Given the description of an element on the screen output the (x, y) to click on. 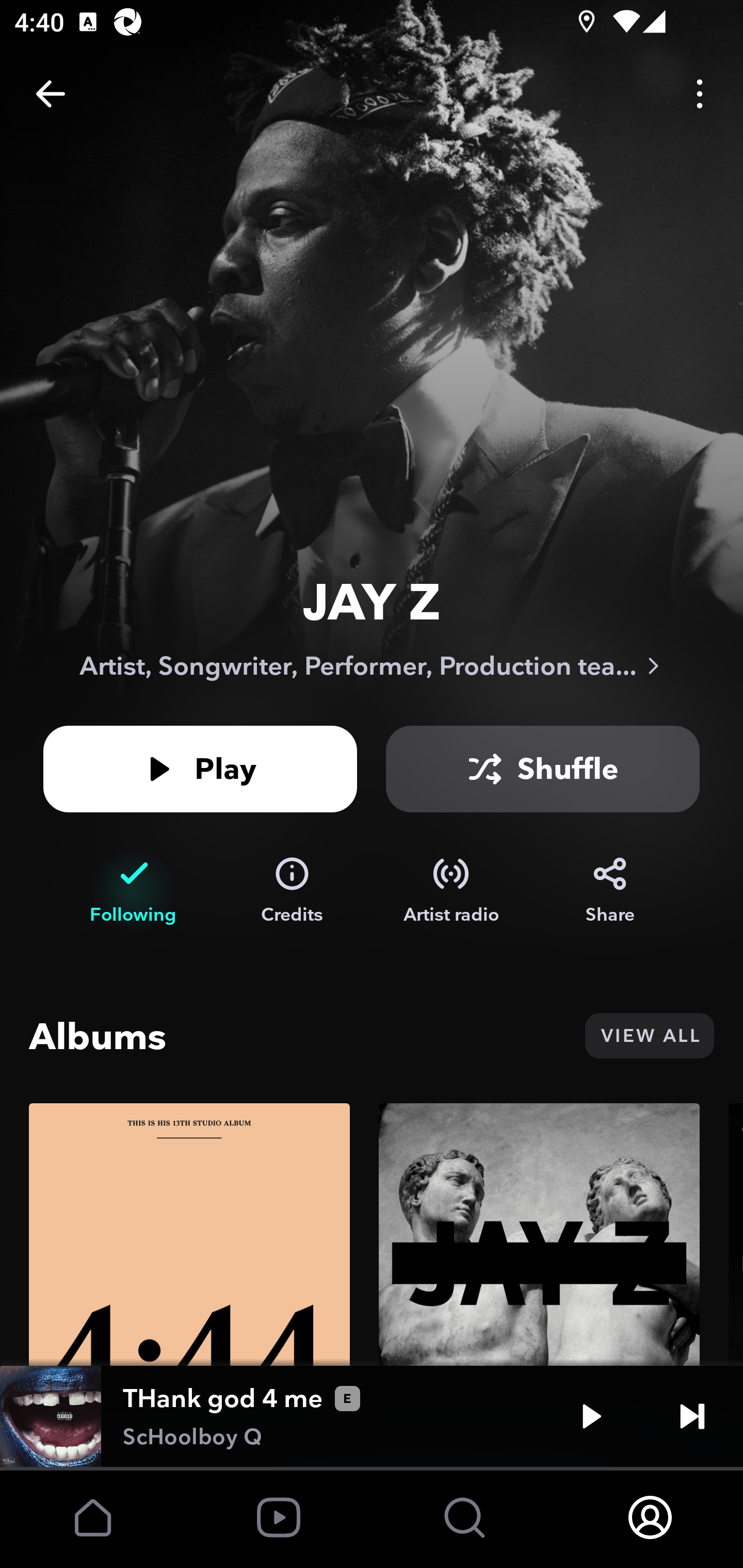
Options (699, 93)
Play (200, 768)
Shuffle (542, 768)
Following (132, 890)
Credits (291, 890)
Artist radio (450, 890)
Share (609, 890)
VIEW ALL (649, 1035)
THank god 4 me    ScHoolboy Q Play (371, 1416)
Play (590, 1416)
